Given the description of an element on the screen output the (x, y) to click on. 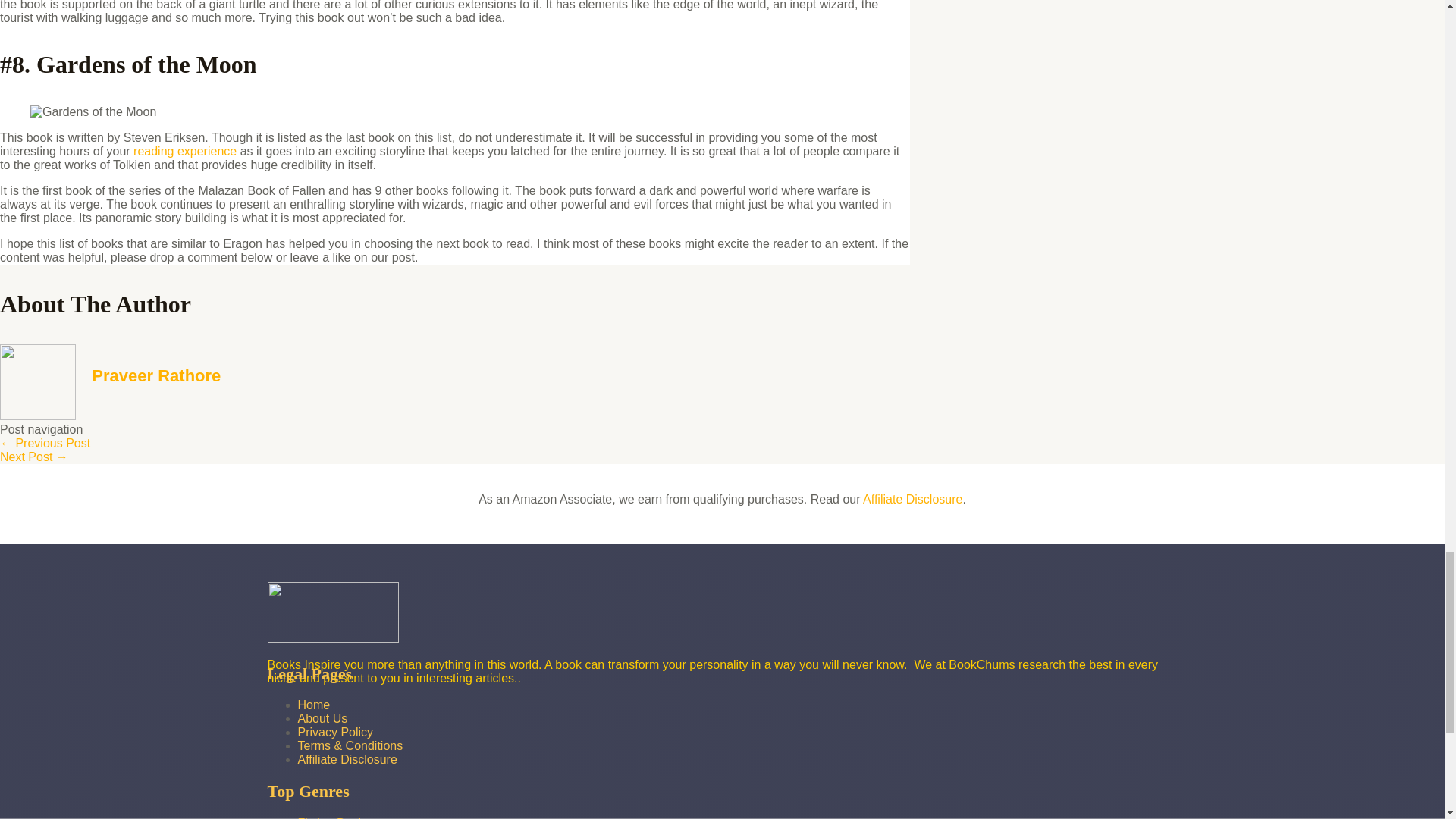
8 Books That Are Like Eragon 10 (92, 111)
Praveer Rathore (156, 375)
reading experience (184, 151)
About Us (322, 717)
Fiction Books (333, 817)
Affiliate Disclosure (912, 499)
12 Books and Series To Read If You Like Hunger Games (34, 456)
Affiliate Disclosure (346, 758)
12 Decent Books On Wrestling That You Must Check Out (45, 442)
Home (313, 704)
